Given the description of an element on the screen output the (x, y) to click on. 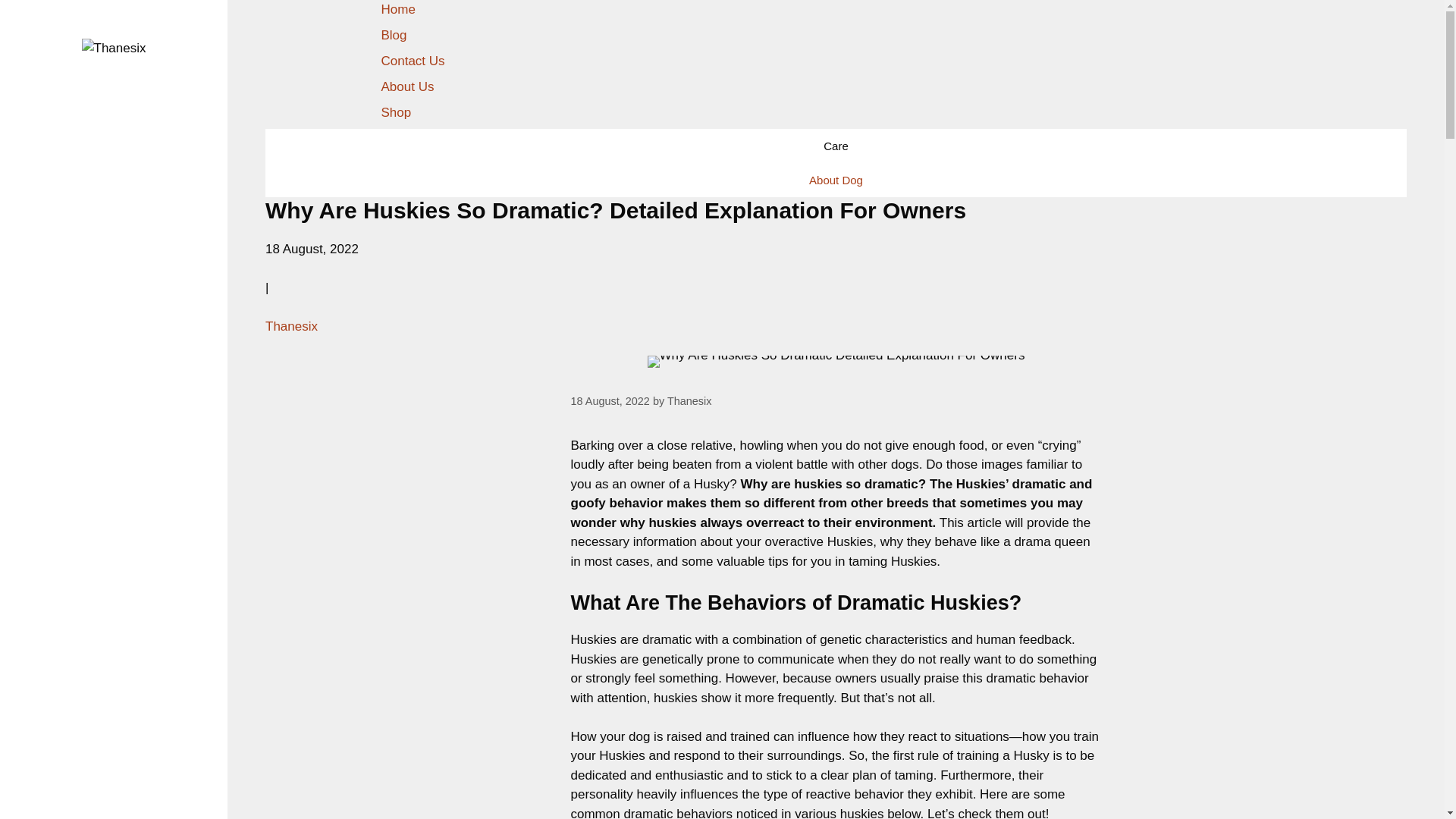
Care (835, 145)
Contact Us (412, 60)
Home (397, 9)
About Us (406, 86)
About Dog (835, 179)
Shop (395, 112)
Blog (393, 34)
View all posts by Thanesix (688, 400)
Thanesix (290, 326)
